Given the description of an element on the screen output the (x, y) to click on. 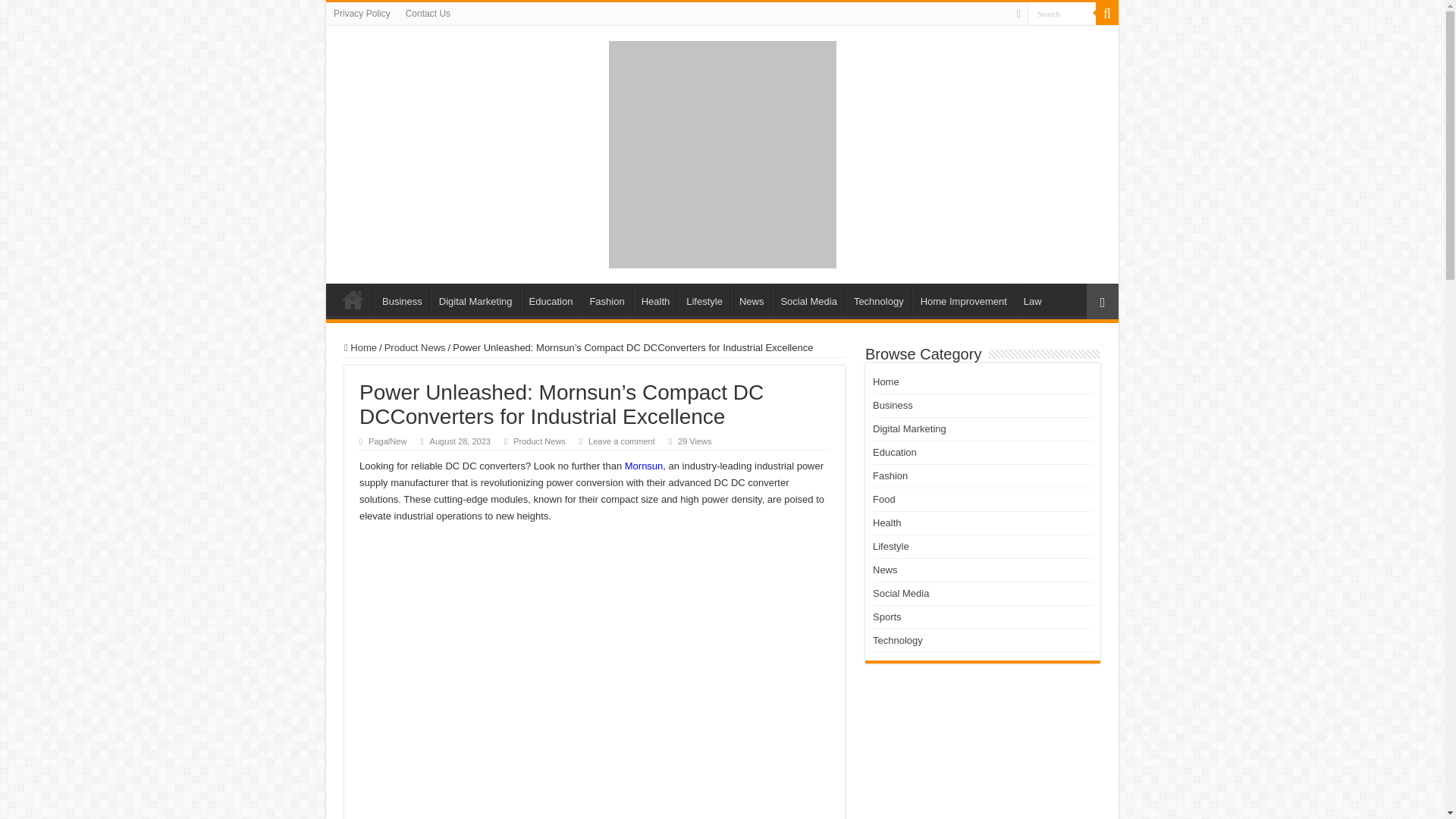
Leave a comment (621, 440)
Random Article (1102, 301)
Social Media (807, 299)
Search (1107, 13)
Lifestyle (704, 299)
Mornsun (643, 465)
Home (352, 299)
Contact Us (427, 13)
Privacy Policy (361, 13)
Product News (539, 440)
Home (360, 347)
PagalNew (387, 440)
Education (550, 299)
Search (1061, 13)
Search (1061, 13)
